Given the description of an element on the screen output the (x, y) to click on. 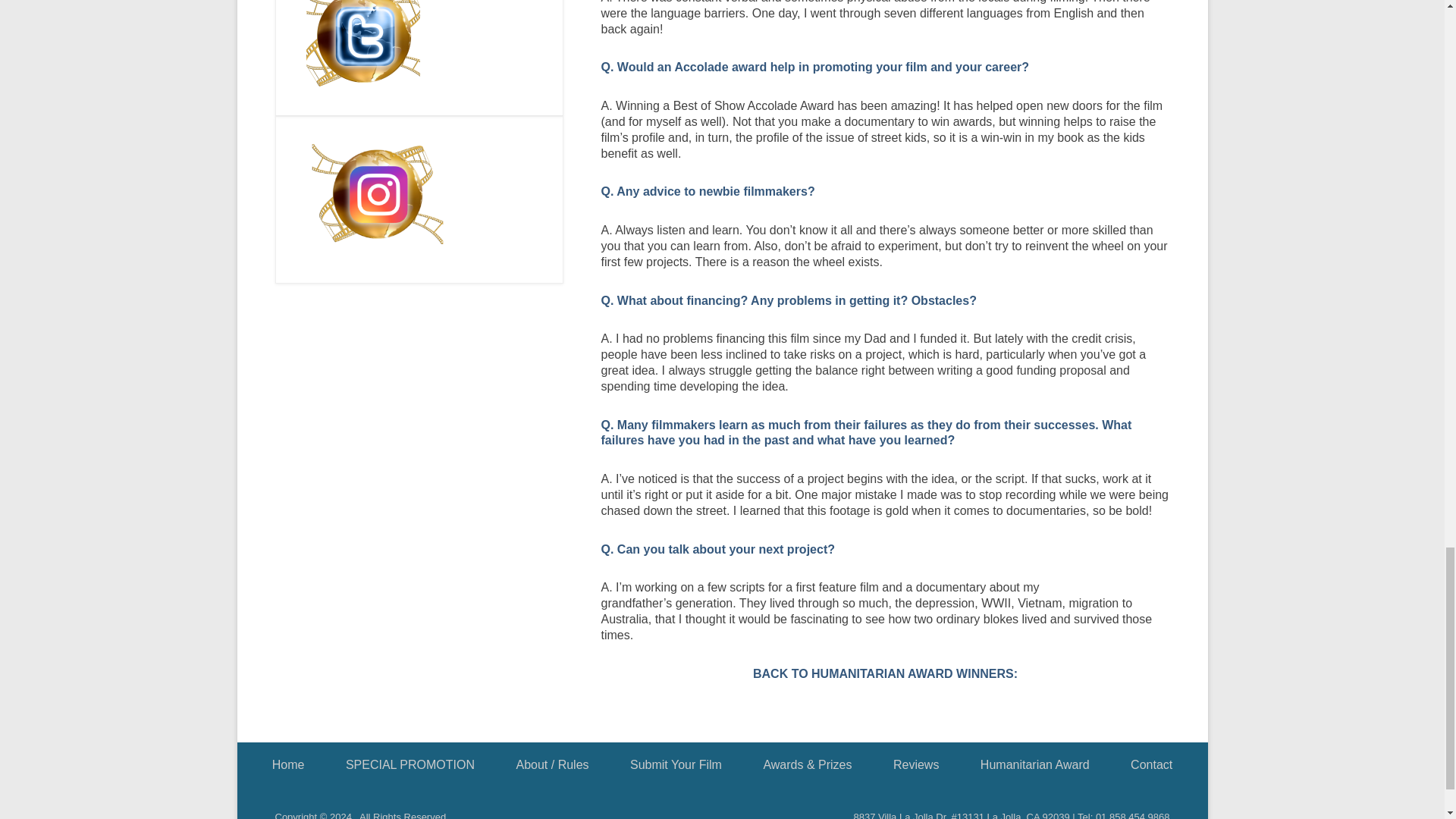
Home (288, 764)
BACK TO HUMANITARIAN AWARD WINNERS: (884, 673)
Humanitarian Award (884, 673)
SPECIAL PROMOTION (409, 764)
